Given the description of an element on the screen output the (x, y) to click on. 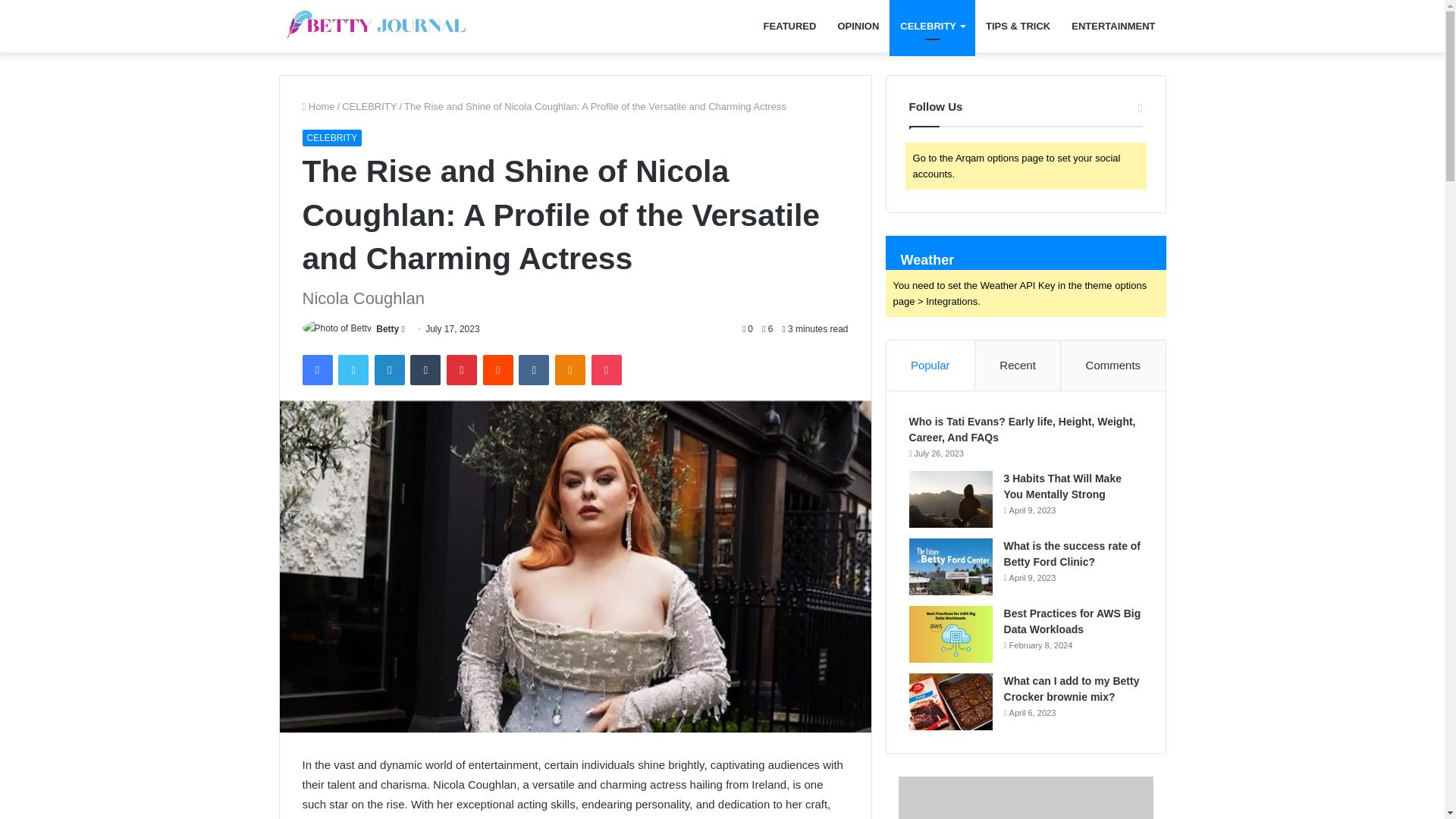
Pocket (606, 369)
Tumblr (425, 369)
Pinterest (461, 369)
Facebook (316, 369)
ENTERTAINMENT (1113, 26)
VKontakte (533, 369)
Reddit (498, 369)
LinkedIn (389, 369)
Pocket (606, 369)
Odnoklassniki (569, 369)
VKontakte (533, 369)
Twitter (352, 369)
CELEBRITY (331, 137)
Twitter (352, 369)
LinkedIn (389, 369)
